Given the description of an element on the screen output the (x, y) to click on. 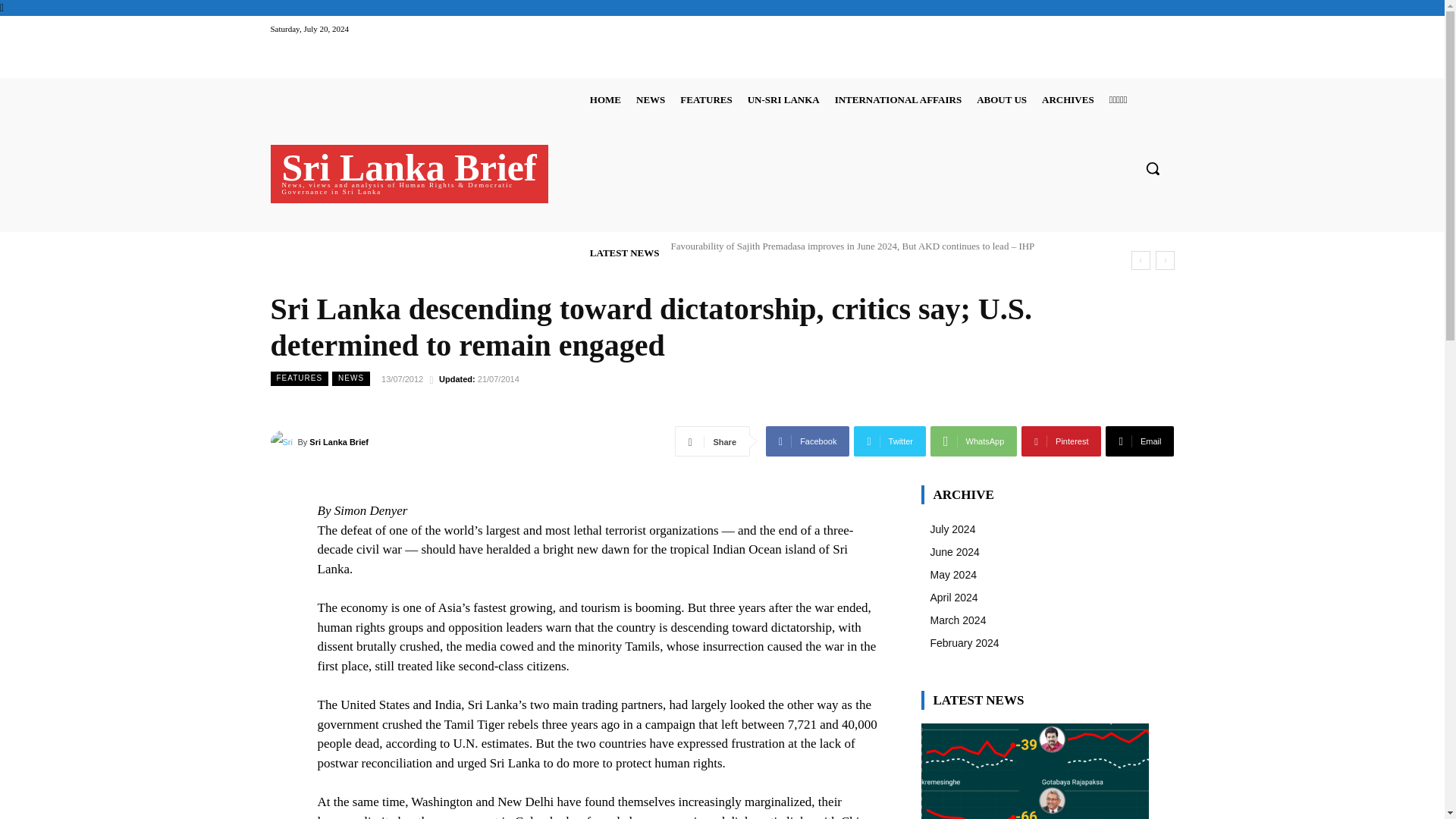
ARCHIVES (1067, 99)
ABOUT US (1001, 99)
UN-SRI LANKA (783, 99)
WhatsApp (973, 440)
INTERNATIONAL AFFAIRS (898, 99)
Twitter (889, 440)
NEWS (650, 99)
Facebook (806, 440)
FEATURES (706, 99)
HOME (605, 99)
Sri Lanka Brief (283, 441)
